Given the description of an element on the screen output the (x, y) to click on. 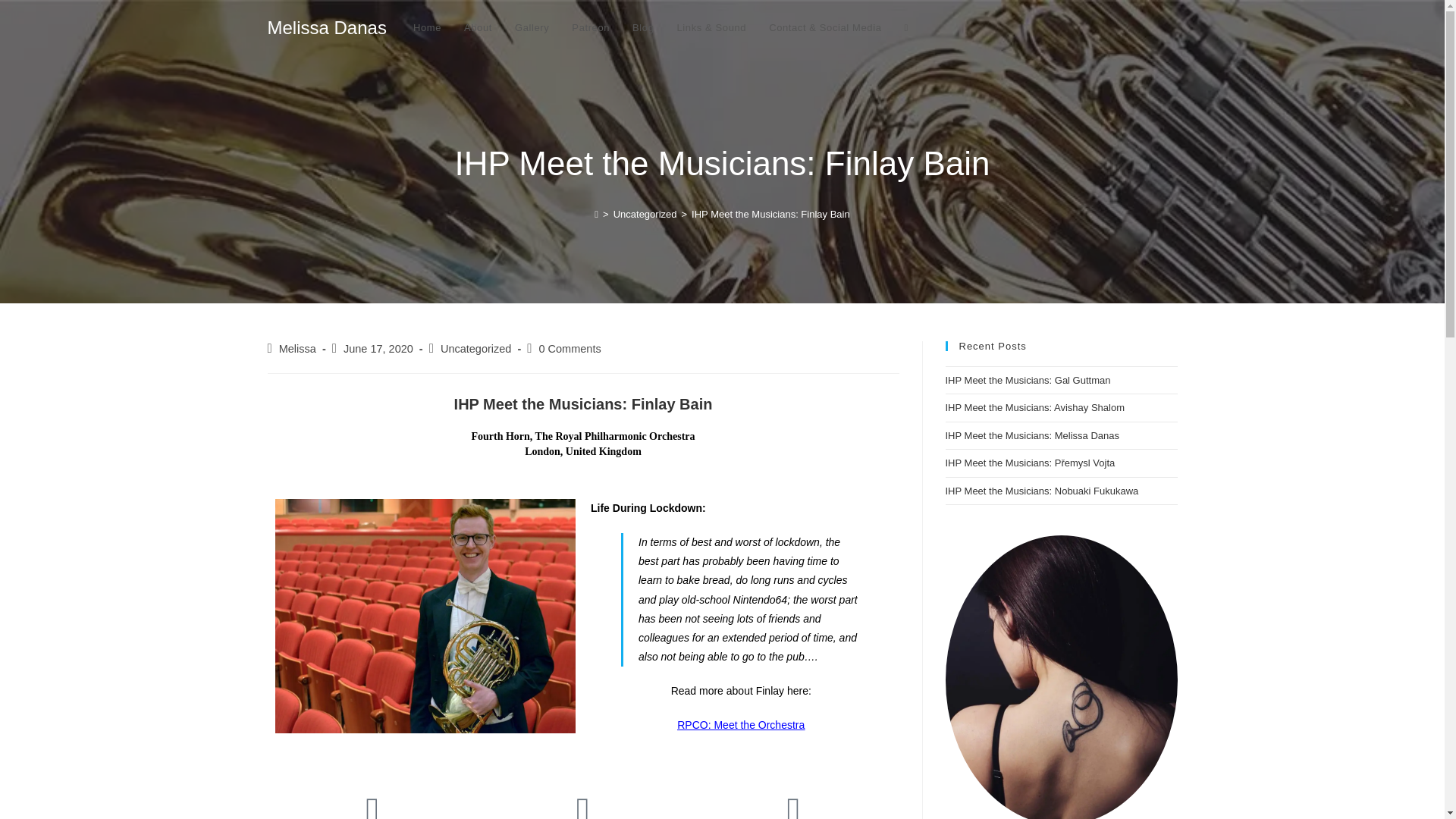
Melissa Danas (325, 27)
Home (426, 28)
About (477, 28)
Melissa (297, 348)
Patreon (590, 28)
IHP Meet the Musicians: Nobuaki Fukukawa (1041, 490)
RPCO: Meet the Orchestra (741, 725)
IHP Meet the Musicians: Gal Guttman (1026, 379)
IHP Meet the Musicians: Melissa Danas (1031, 435)
Gallery (531, 28)
0 Comments (568, 348)
Uncategorized (644, 214)
IHP Meet the Musicians: Avishay Shalom (1034, 407)
IHP Meet the Musicians: Finlay Bain (770, 214)
